Given the description of an element on the screen output the (x, y) to click on. 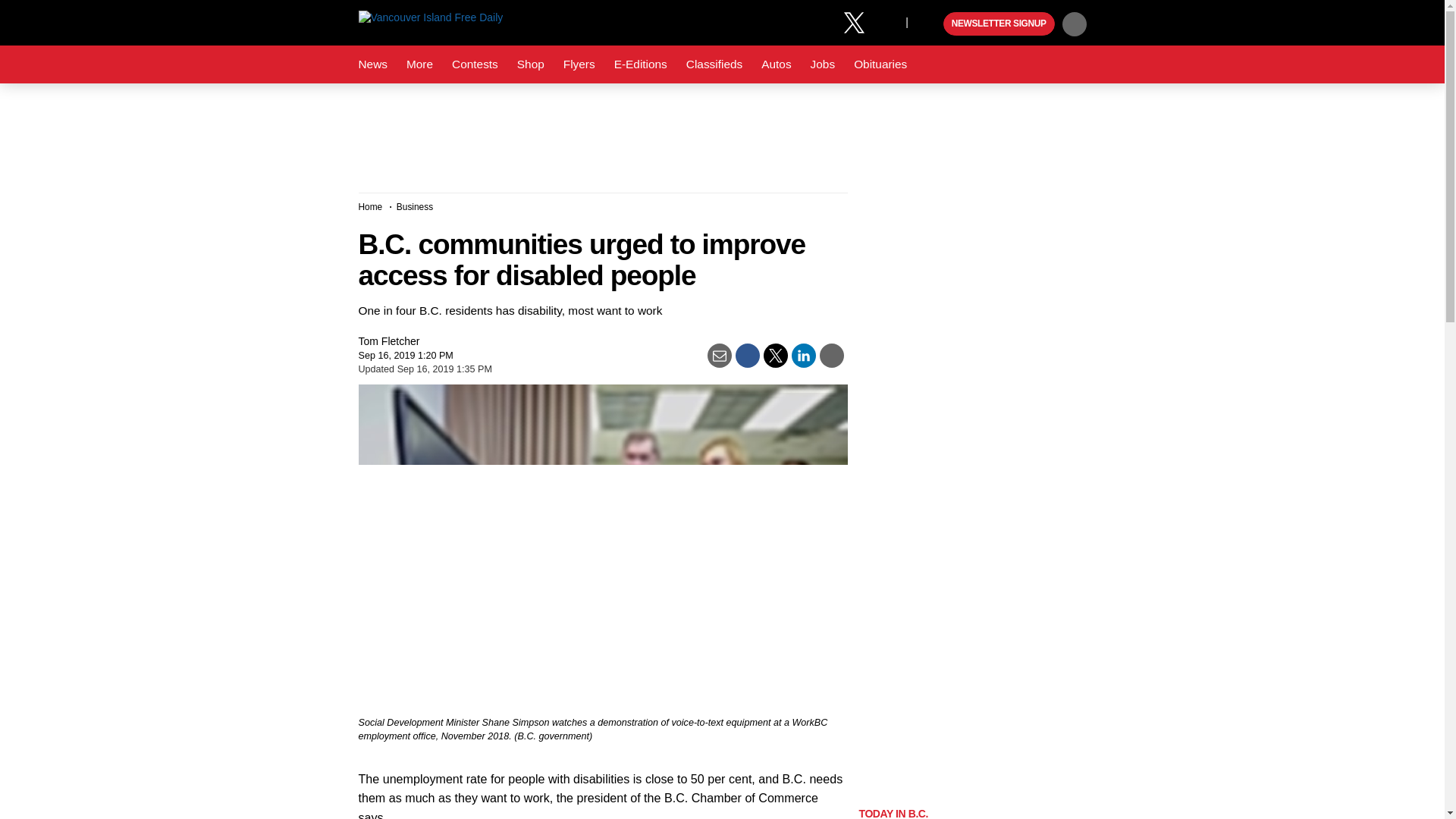
Play (929, 24)
Black Press Media (929, 24)
NEWSLETTER SIGNUP (998, 24)
Facebook (823, 21)
News (372, 64)
X (853, 21)
Instagram (889, 21)
